Given the description of an element on the screen output the (x, y) to click on. 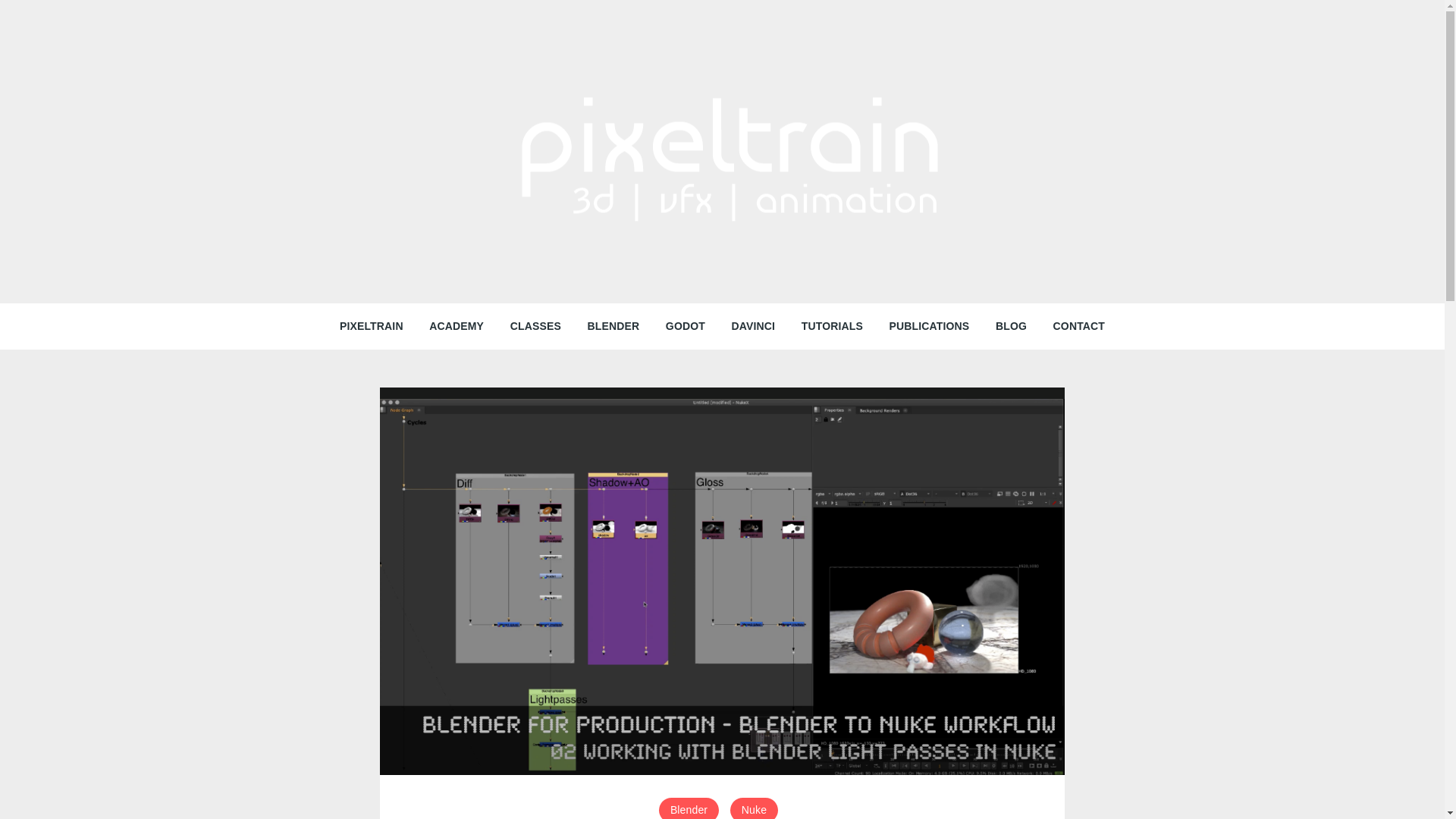
BLOG (1011, 326)
Blender (689, 808)
ACADEMY (456, 326)
GODOT (684, 326)
BLENDER (613, 326)
PUBLICATIONS (929, 326)
Nuke (753, 808)
TUTORIALS (832, 326)
CLASSES (535, 326)
DAVINCI (753, 326)
